Given the description of an element on the screen output the (x, y) to click on. 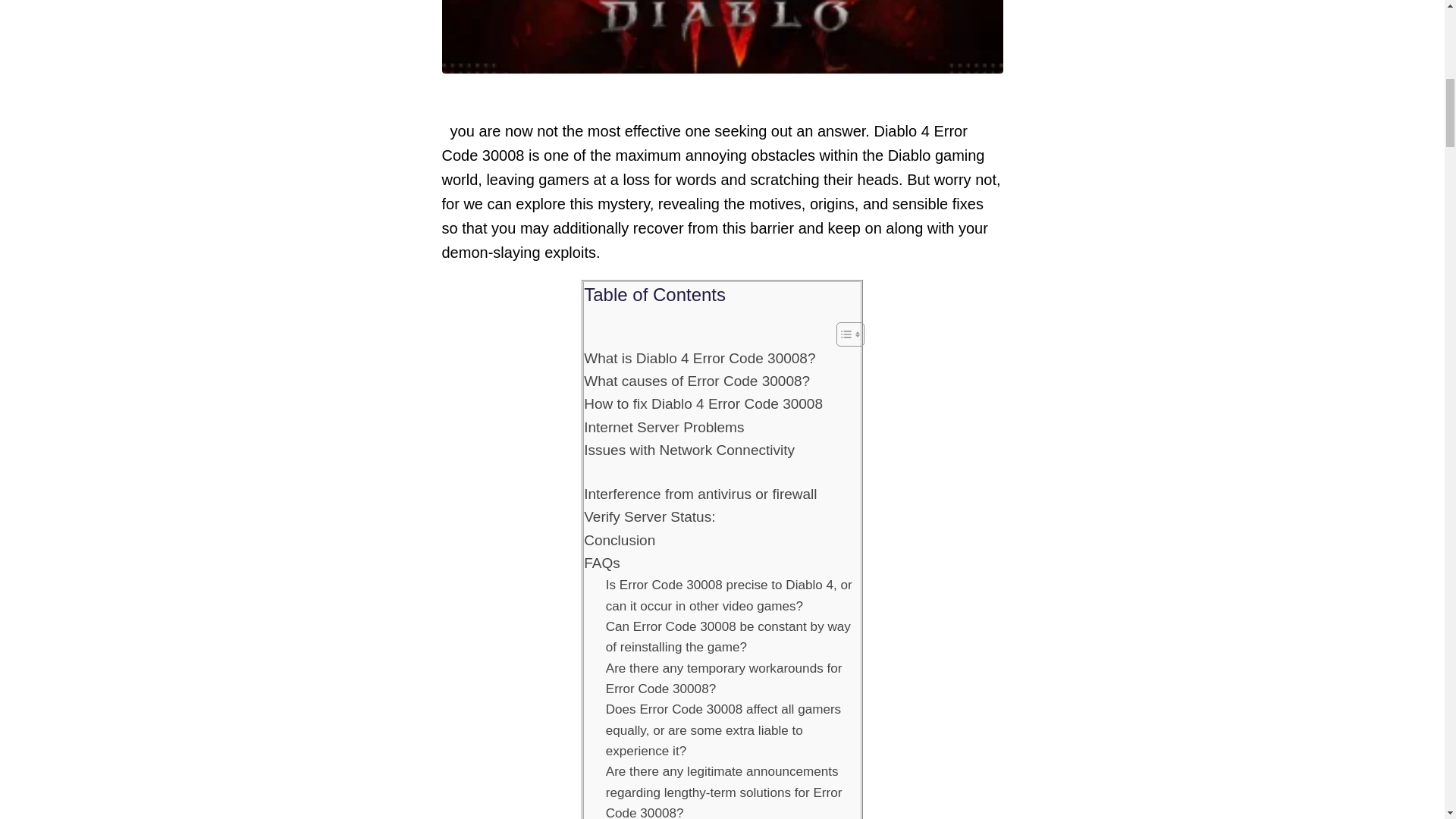
What causes of Error Code 30008? (696, 381)
What causes of Error Code 30008? (696, 381)
What is Diablo 4 Error Code 30008? (699, 358)
Issues with Network Connectivity (688, 449)
FAQs (601, 563)
How to fix Diablo 4 error code 30008 (722, 36)
What is Diablo 4 Error Code 30008?  (699, 358)
How to fix Diablo 4 Error Code 30008 (702, 404)
Issues with Network Connectivity (688, 449)
Verify Server Status: (648, 517)
Internet Server Problems (663, 427)
Interference from antivirus or firewall (699, 494)
